Given the description of an element on the screen output the (x, y) to click on. 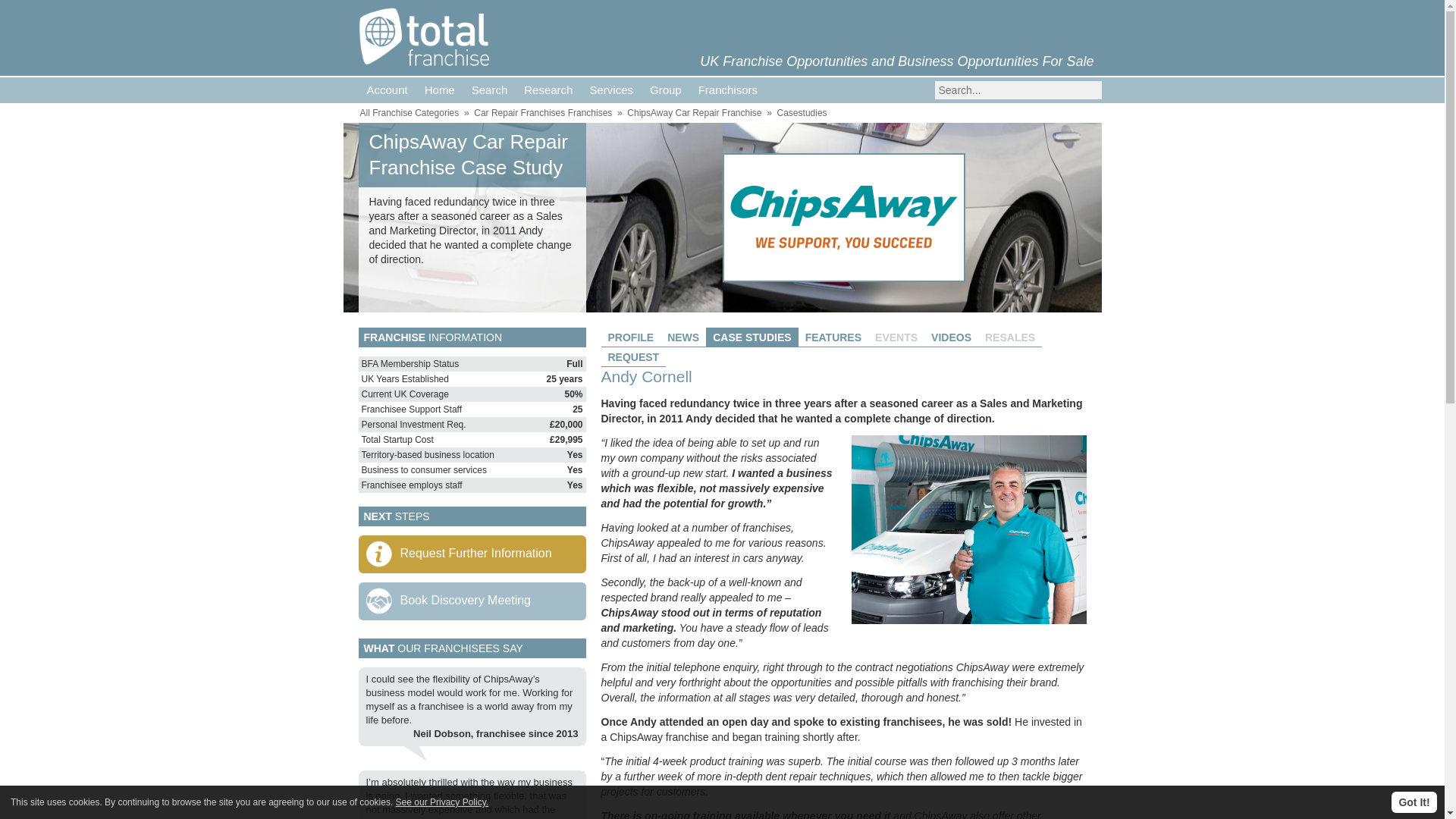
Research (547, 89)
Home (439, 89)
Casestudies (802, 112)
ChipsAway Car Repair Franchise (694, 112)
FEATURES (832, 337)
Franchisors (727, 89)
Request Further Information (471, 554)
Group (666, 89)
All Franchise Categories (408, 112)
Search (489, 89)
